Given the description of an element on the screen output the (x, y) to click on. 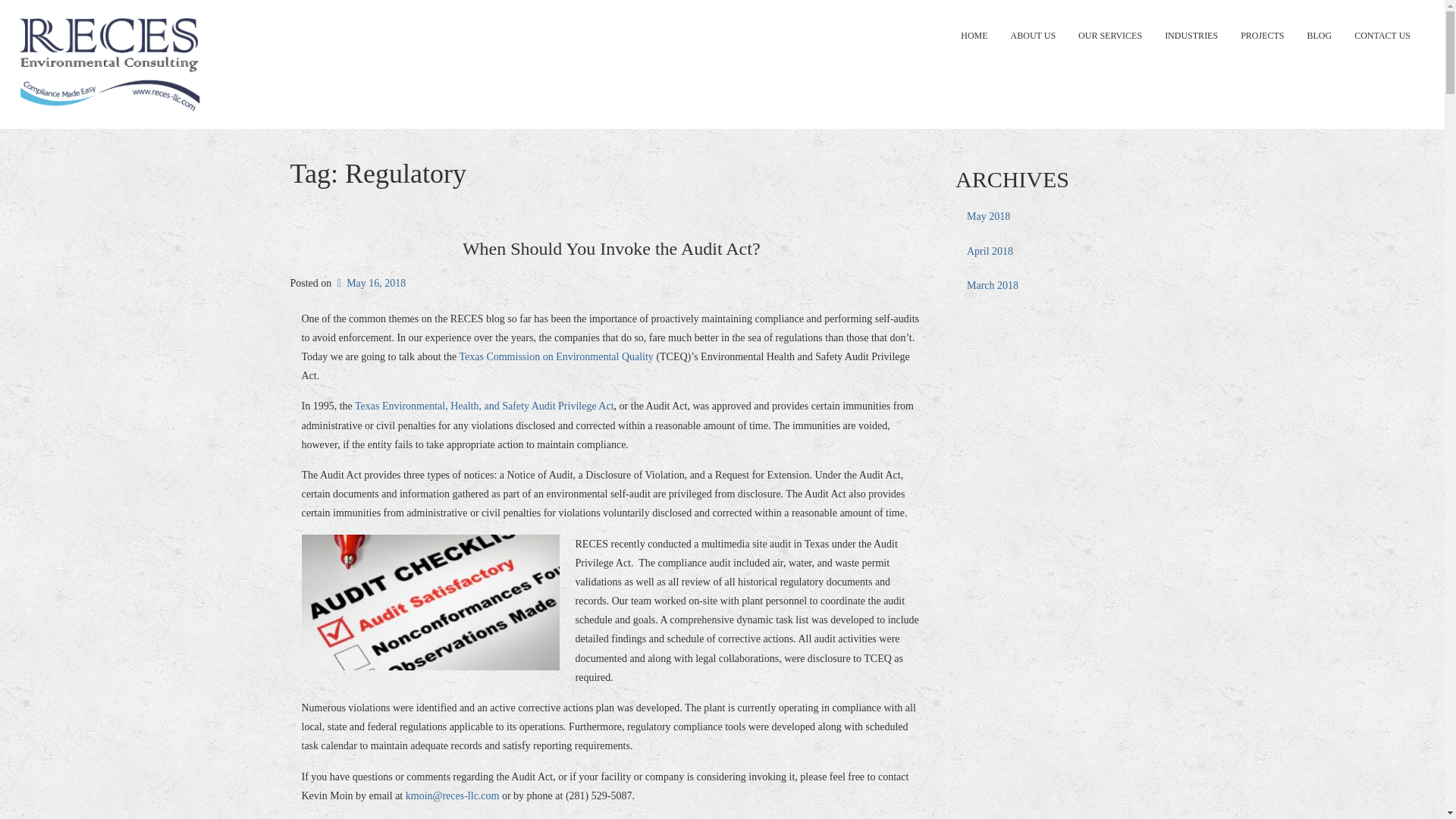
When Should You Invoke the Audit Act? (611, 248)
INDUSTRIES (1190, 35)
Texas Environmental, Health, and Safety Audit Privilege Act (484, 405)
ABOUT US (1032, 35)
PROJECTS (1261, 35)
Projects (1261, 35)
HOME (973, 35)
Home (973, 35)
Industries (1190, 35)
Texas Commission on Environmental Quality (557, 356)
OUR SERVICES (1110, 35)
May 16, 2018 (370, 283)
About Us (1032, 35)
CONTACT US (1382, 35)
BLOG (1318, 35)
